Given the description of an element on the screen output the (x, y) to click on. 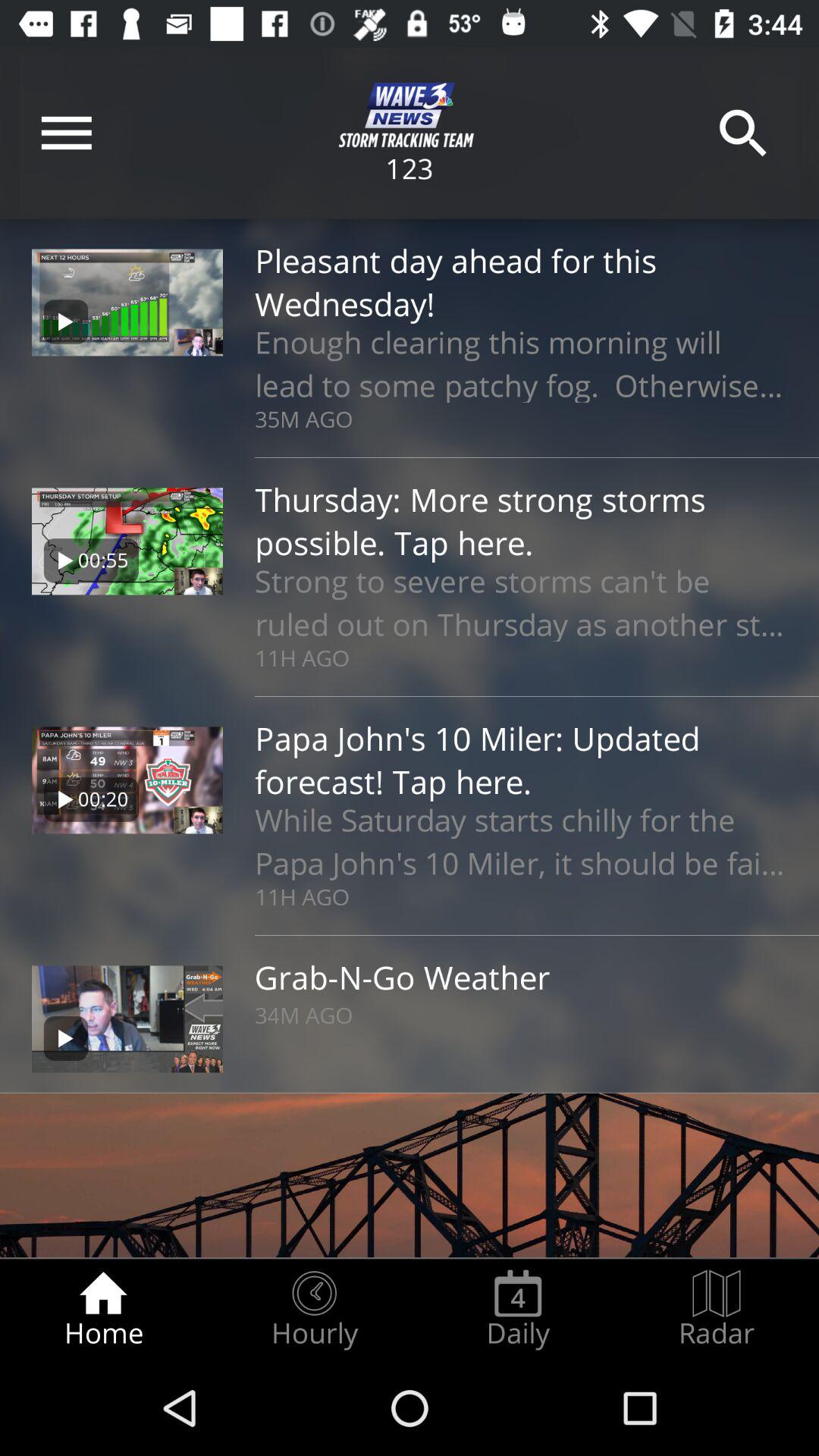
go to the play button on the first image (65, 321)
